Given the description of an element on the screen output the (x, y) to click on. 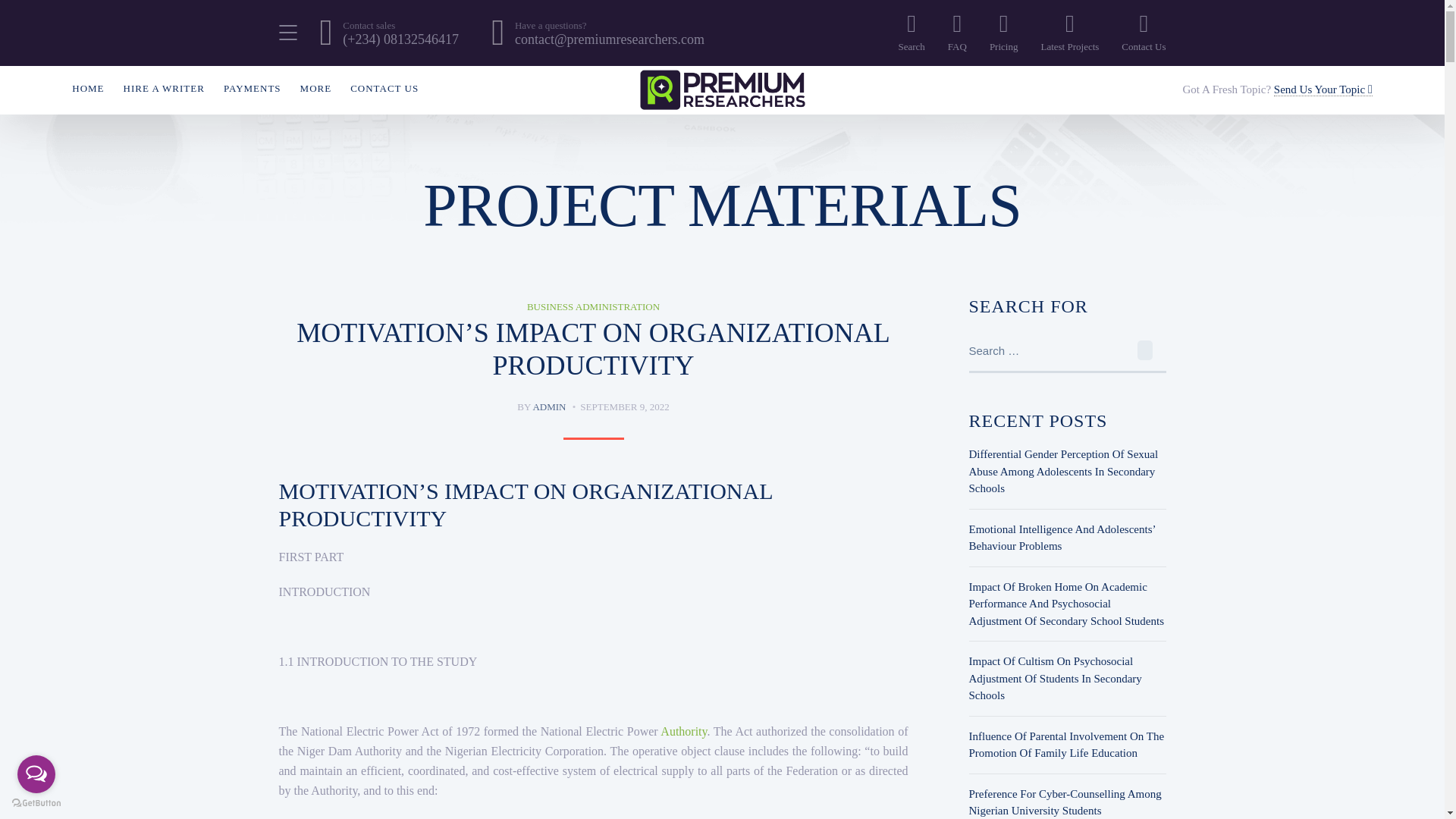
Authority (683, 730)
ADMIN (549, 406)
HIRE A WRITER (164, 87)
CONTACT US (384, 87)
Send Us Your Topic (1323, 89)
BUSINESS ADMINISTRATION (593, 306)
Posts by admin (549, 406)
